Given the description of an element on the screen output the (x, y) to click on. 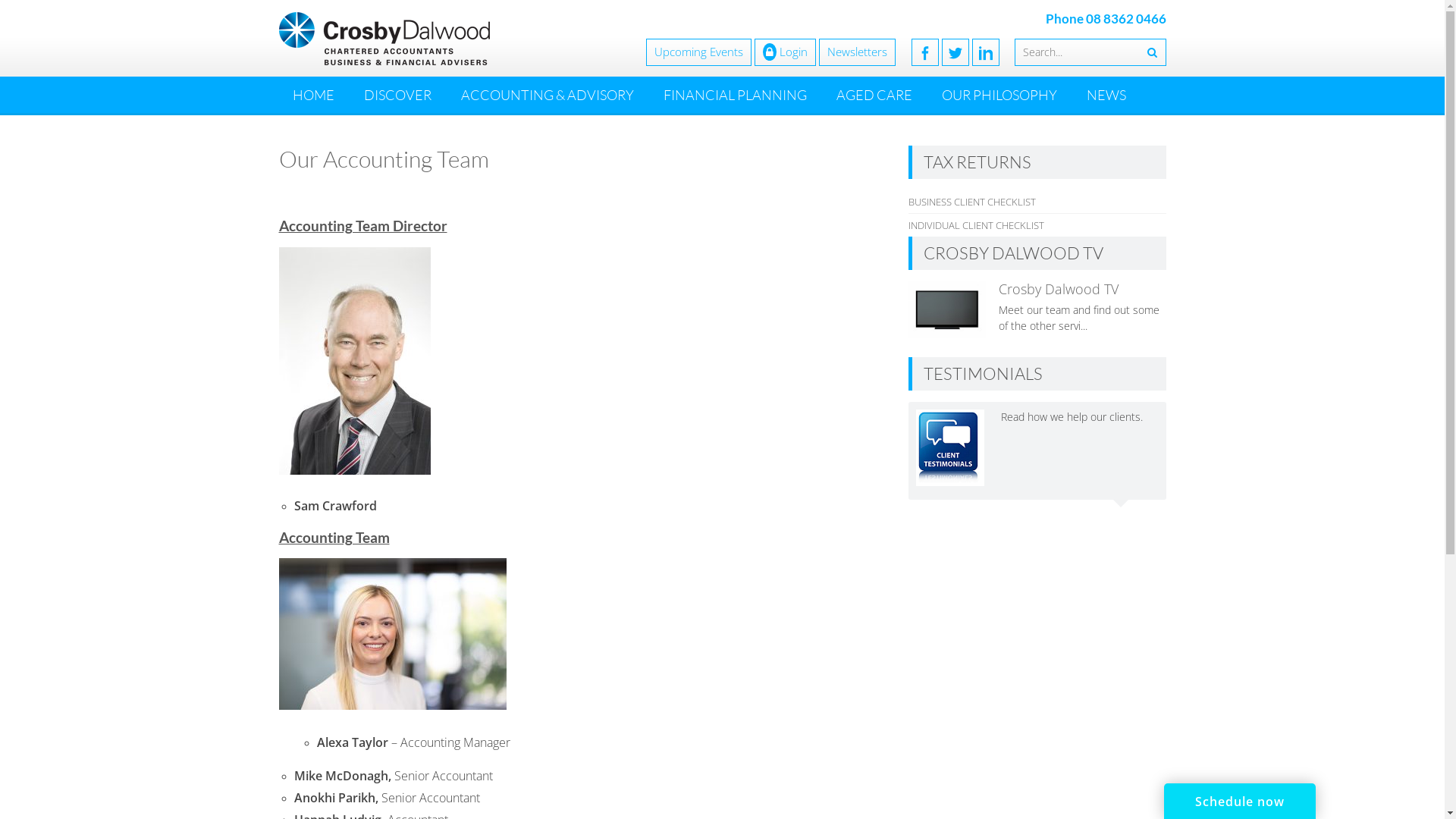
AGED CARE Element type: text (873, 94)
Facebook Element type: hover (924, 51)
INDIVIDUAL CLIENT CHECKLIST Element type: text (976, 225)
HOME Element type: text (313, 94)
DISCOVER Element type: text (397, 94)
Linkedin Element type: hover (985, 51)
Crosby Dalwood TV Element type: text (1058, 288)
OUR PHILOSOPHY Element type: text (999, 94)
Login Element type: text (784, 51)
Newsletters Element type: text (857, 51)
NEWS Element type: text (1105, 94)
ACCOUNTING & ADVISORY Element type: text (547, 94)
Upcoming Events Element type: text (698, 51)
BUSINESS CLIENT CHECKLIST Element type: text (971, 201)
FINANCIAL PLANNING Element type: text (734, 94)
Twitter Element type: hover (955, 51)
